Given the description of an element on the screen output the (x, y) to click on. 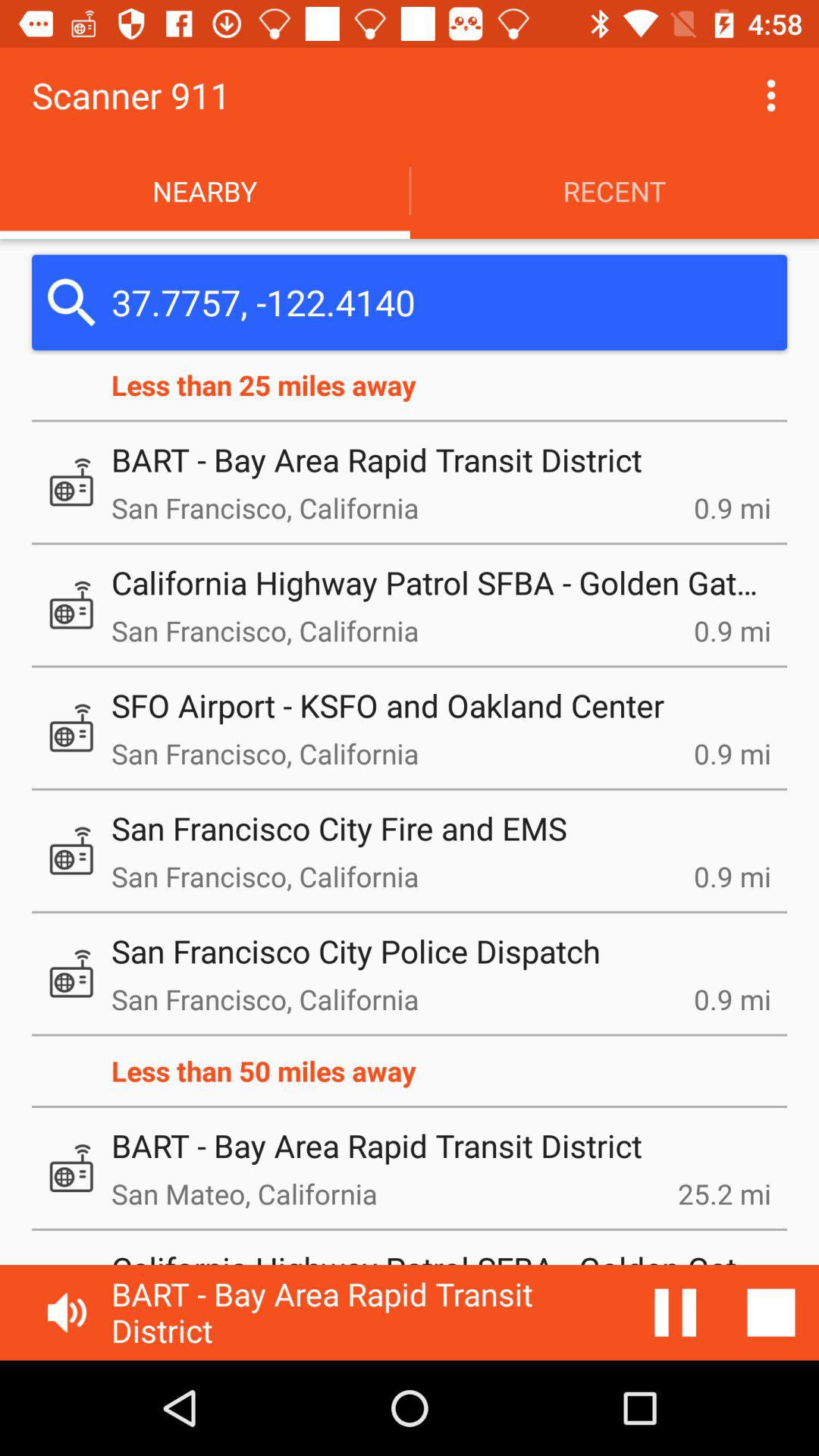
stop playing (771, 1312)
